Given the description of an element on the screen output the (x, y) to click on. 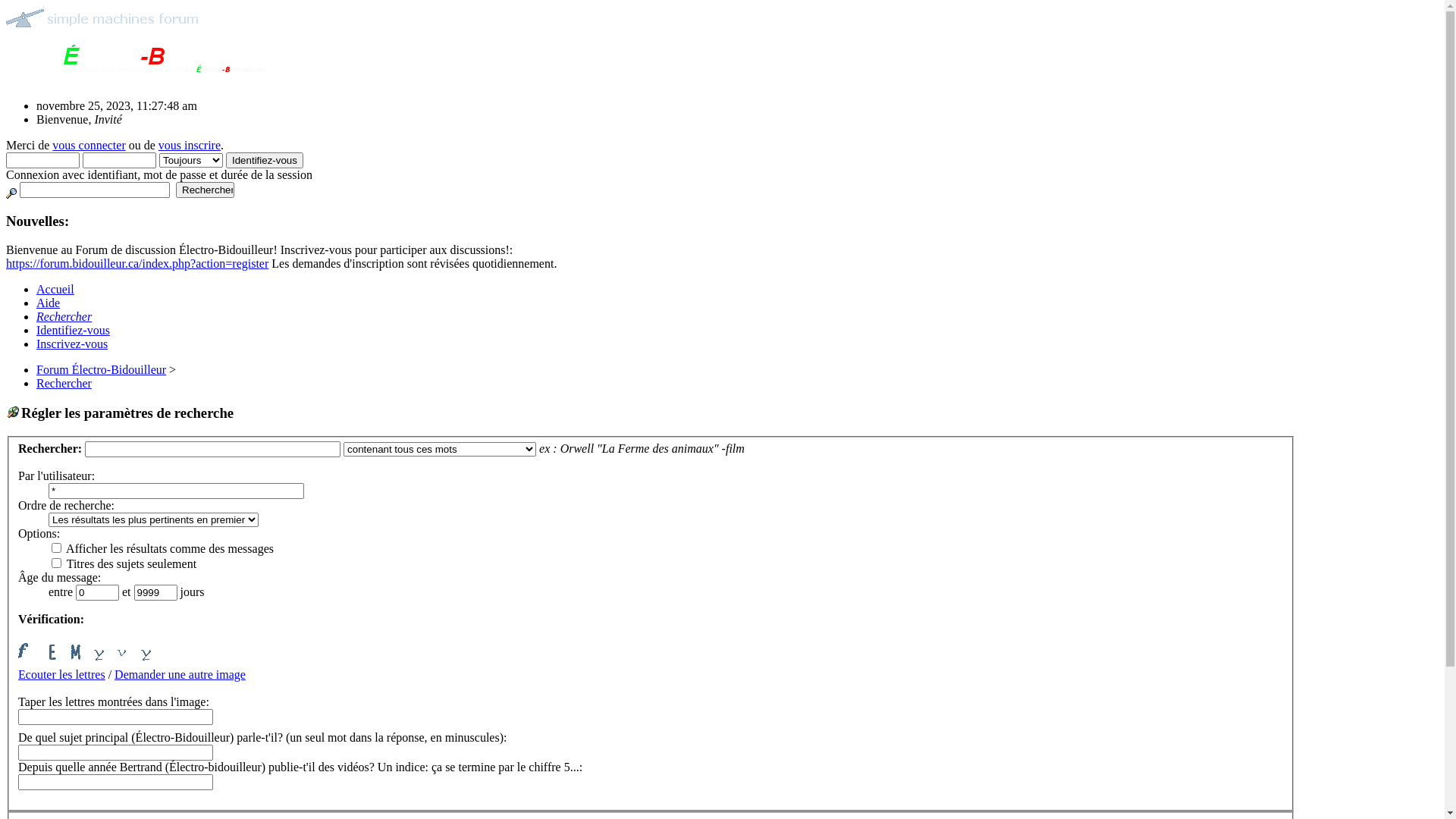
vous connecter Element type: text (88, 144)
vous inscrire Element type: text (189, 144)
Rechercher Element type: text (63, 316)
Identifiez-vous Element type: text (264, 160)
Rechercher Element type: text (204, 189)
Aide Element type: text (47, 302)
Ecouter les lettres Element type: text (61, 674)
Rechercher Element type: text (63, 382)
Identifiez-vous Element type: text (72, 329)
https://forum.bidouilleur.ca/index.php?action=register Element type: text (137, 263)
Inscrivez-vous Element type: text (71, 343)
Demander une autre image Element type: text (179, 674)
Accueil Element type: text (55, 288)
